Given the description of an element on the screen output the (x, y) to click on. 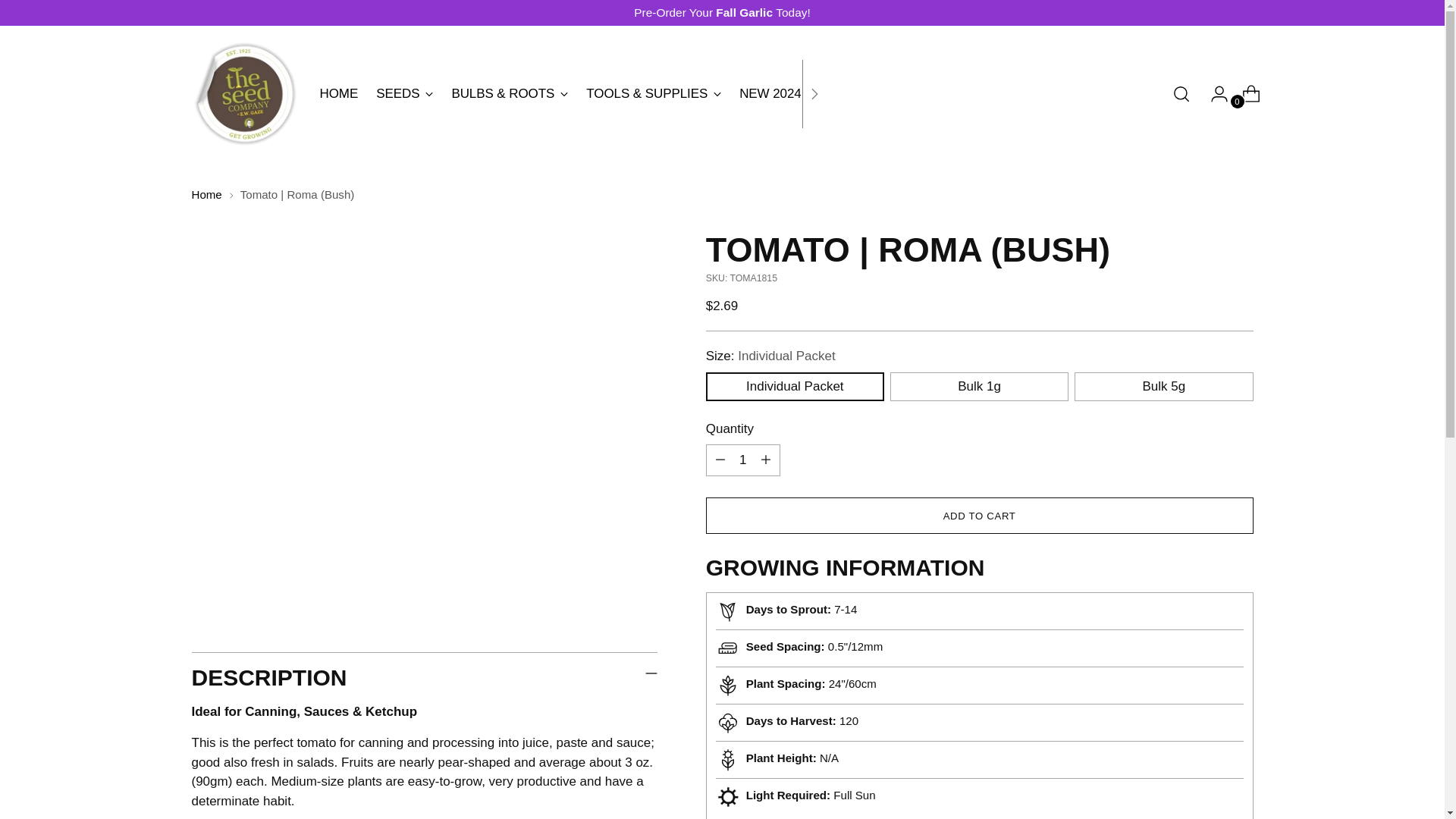
SEEDS (403, 93)
HOME (339, 93)
1 (743, 460)
Pre-Order Your Fall Garlic Today! (721, 12)
